Given the description of an element on the screen output the (x, y) to click on. 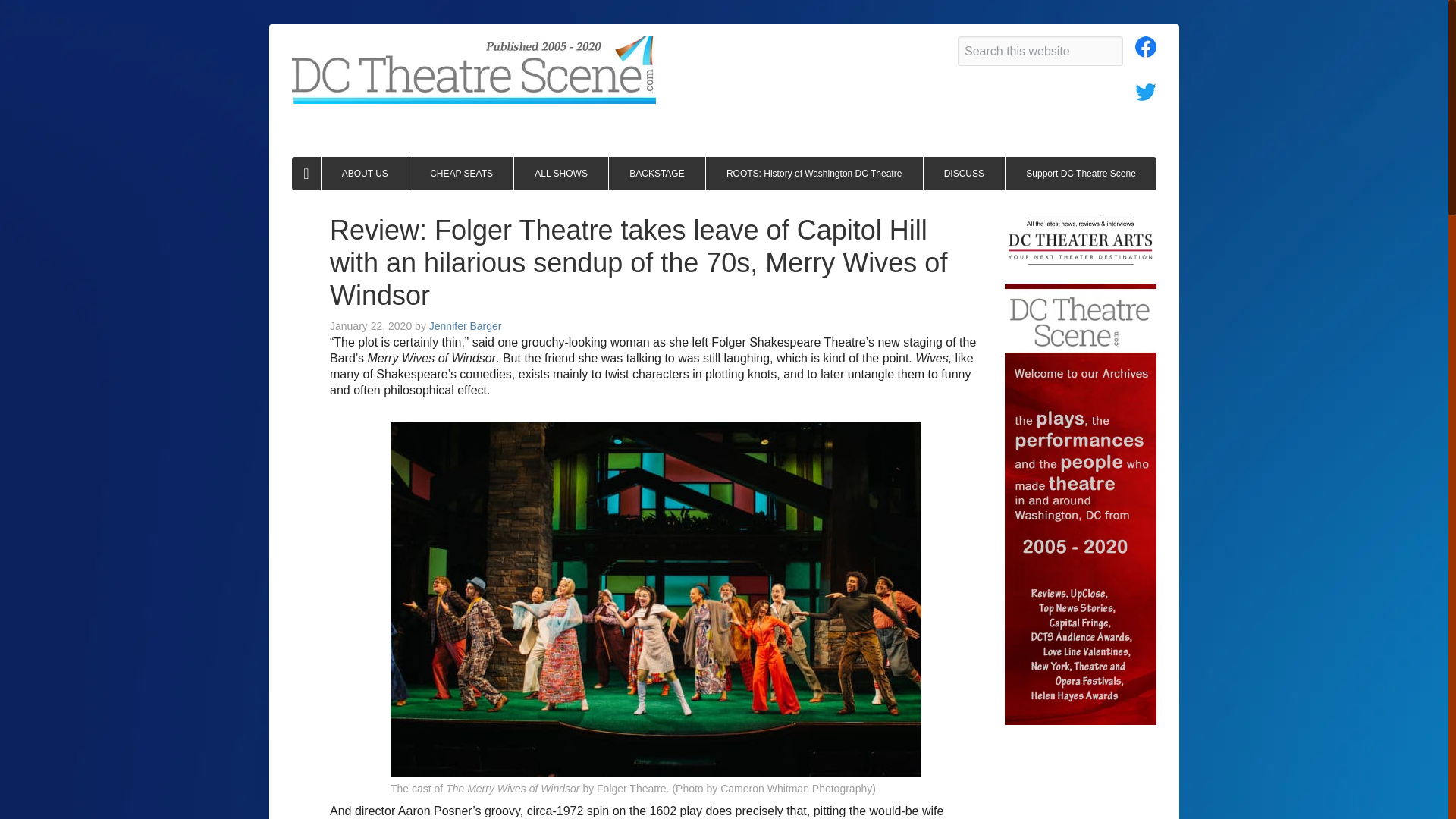
Follow DC Theatre Scene on Facebook (1145, 51)
DC Theatre Scene (474, 70)
ABOUT US (365, 173)
Jennifer Barger (465, 326)
Support DC Theatre Scene (1081, 173)
BACKSTAGE (657, 173)
Follow DC Theatre Scene on Twitter (1145, 93)
DISCUSS (964, 173)
ALL SHOWS (560, 173)
